Given the description of an element on the screen output the (x, y) to click on. 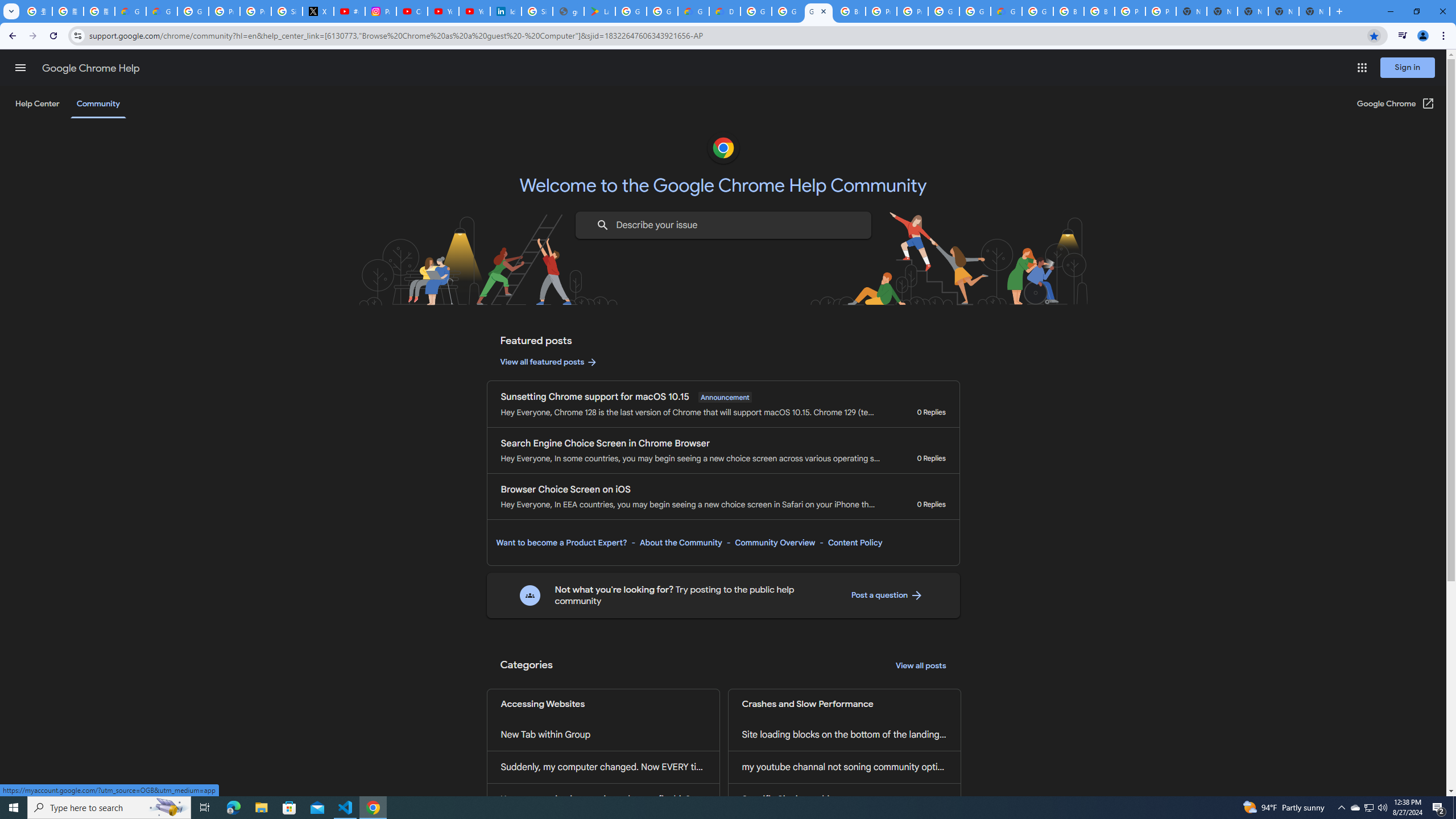
New Tab (1314, 11)
Government | Google Cloud (693, 11)
Browse Chrome as a guest - Computer - Google Chrome Help (1068, 11)
Browse Chrome as a guest - Computer - Google Chrome Help (849, 11)
